Given the description of an element on the screen output the (x, y) to click on. 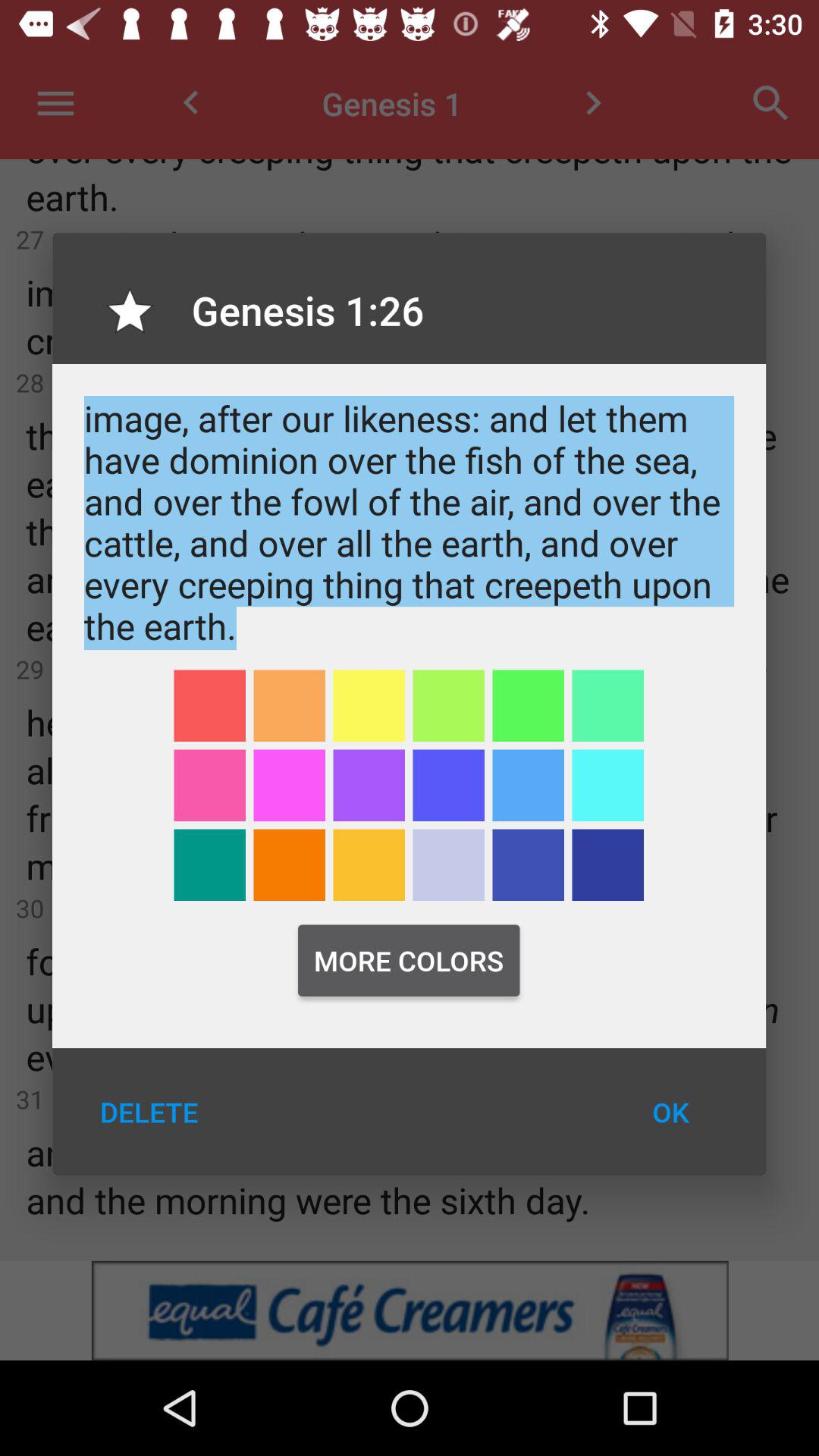
select color (448, 864)
